Given the description of an element on the screen output the (x, y) to click on. 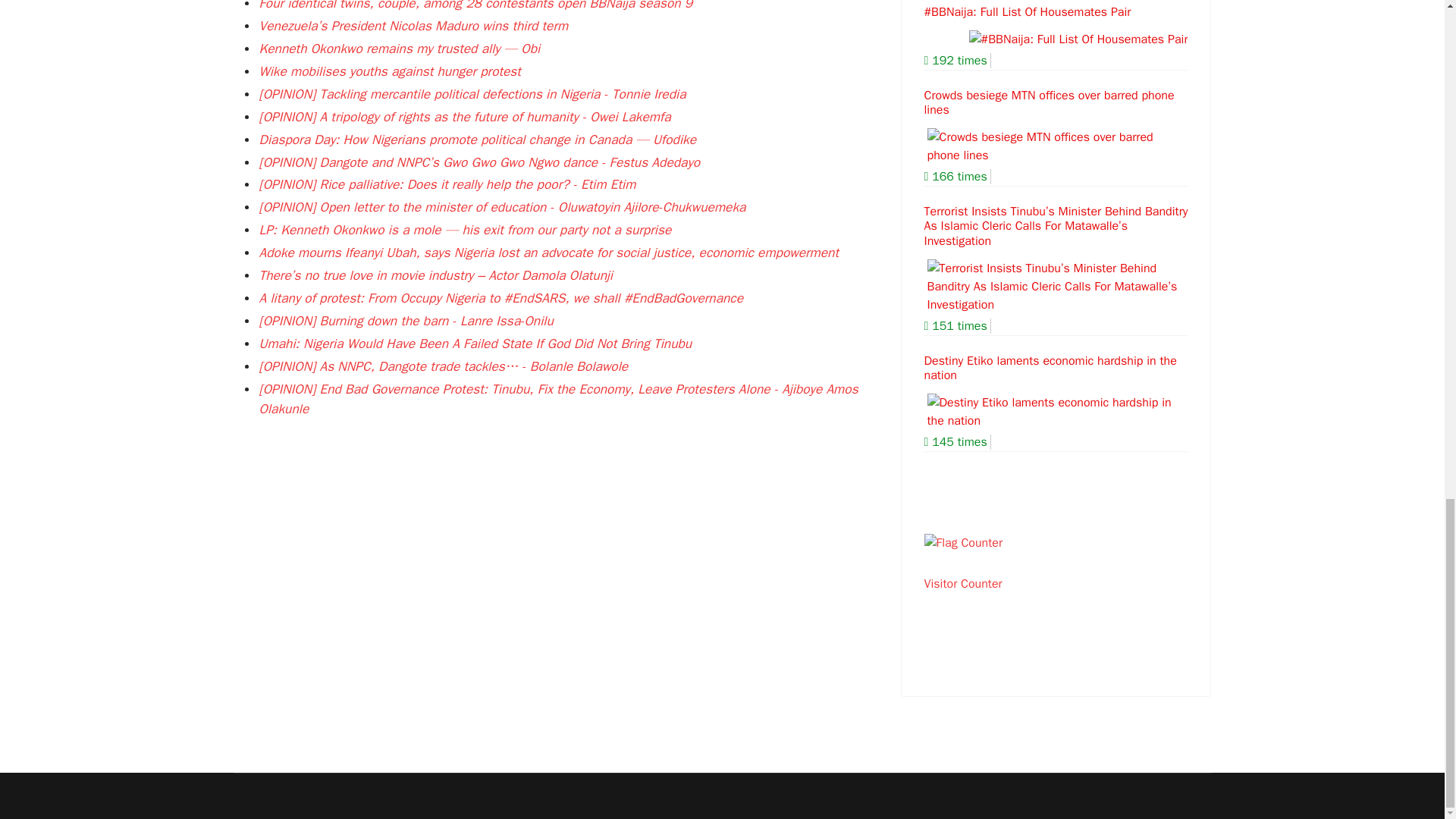
Wike mobilises youths against hunger protest (390, 71)
